Given the description of an element on the screen output the (x, y) to click on. 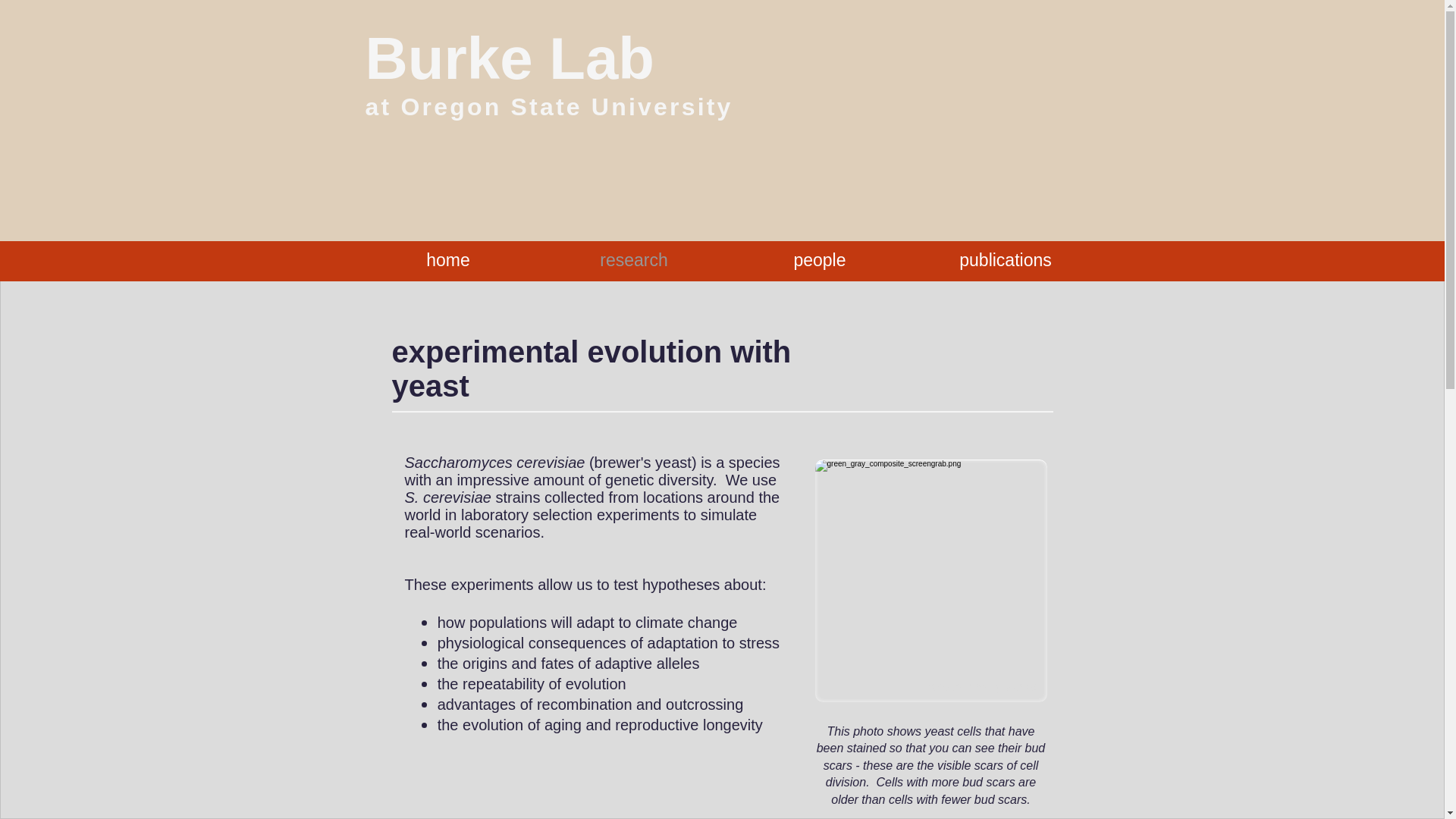
home (447, 258)
at Oregon State University (549, 106)
people (819, 258)
Burke Lab (509, 58)
research (633, 258)
publications (1005, 258)
